Given the description of an element on the screen output the (x, y) to click on. 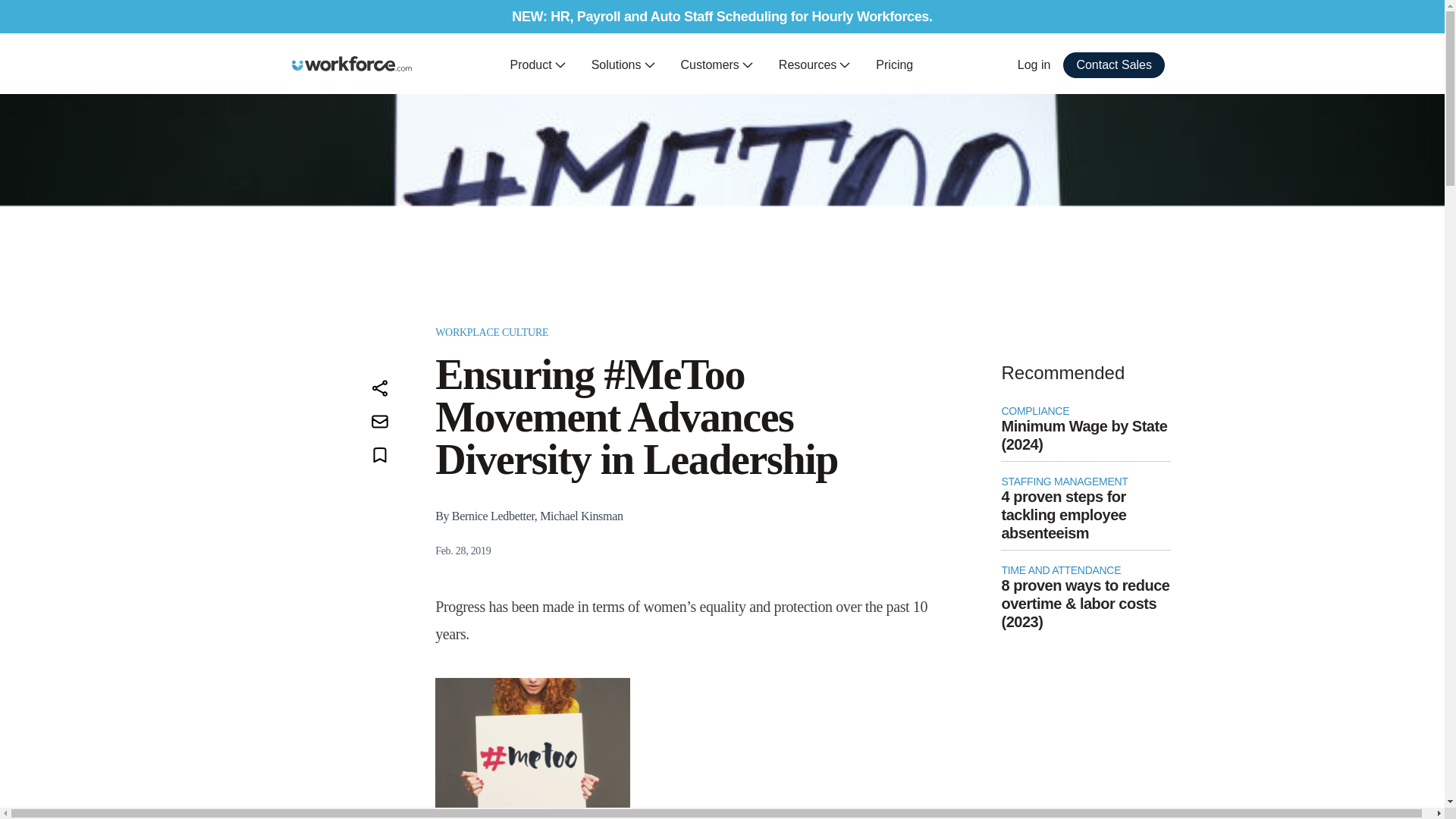
Workforce.com (351, 63)
Solutions (623, 65)
Product (539, 65)
